Given the description of an element on the screen output the (x, y) to click on. 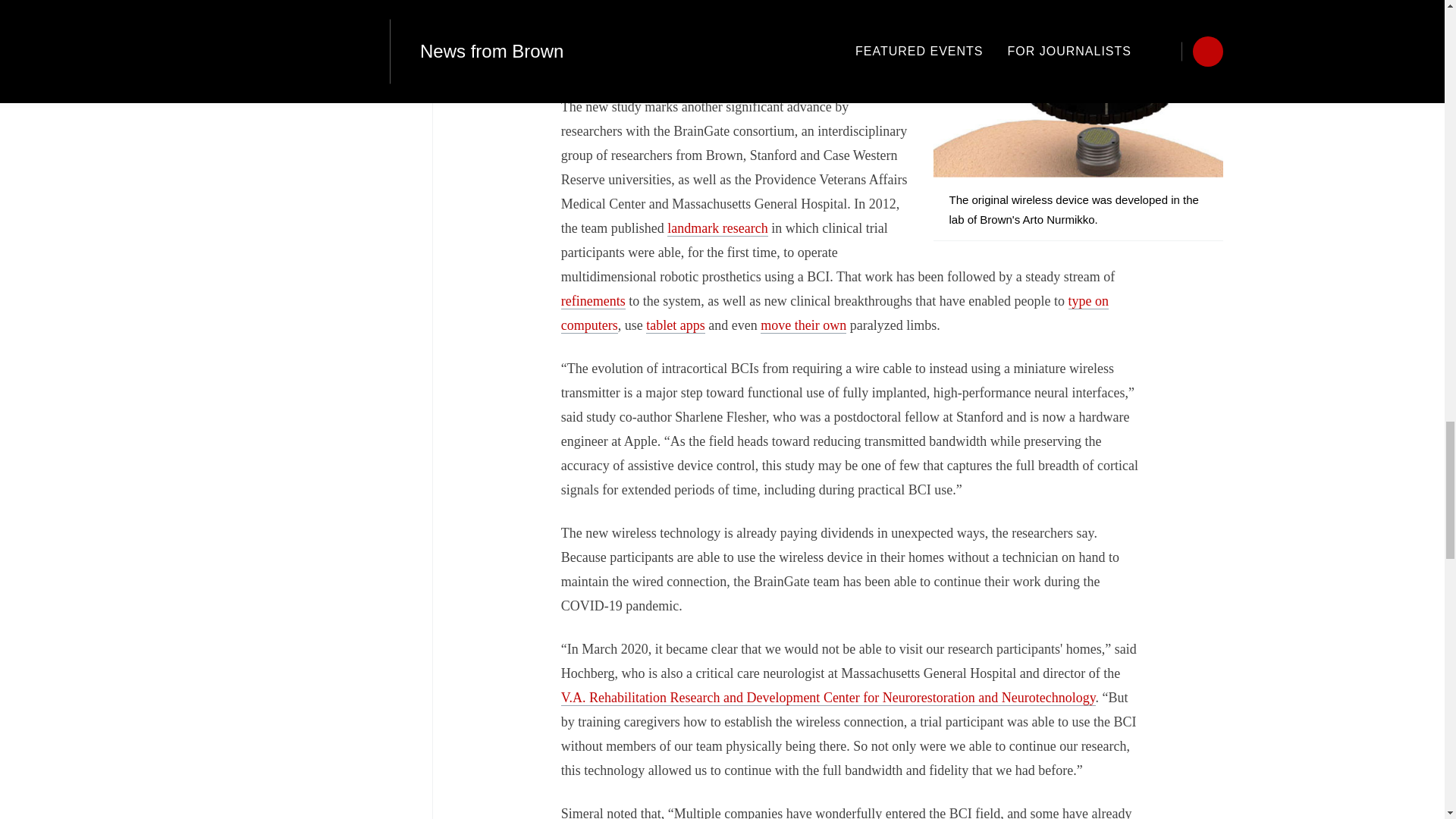
type on computers (834, 313)
move their own (802, 325)
landmark research (716, 228)
tablet apps (675, 325)
refinements (837, 313)
